Given the description of an element on the screen output the (x, y) to click on. 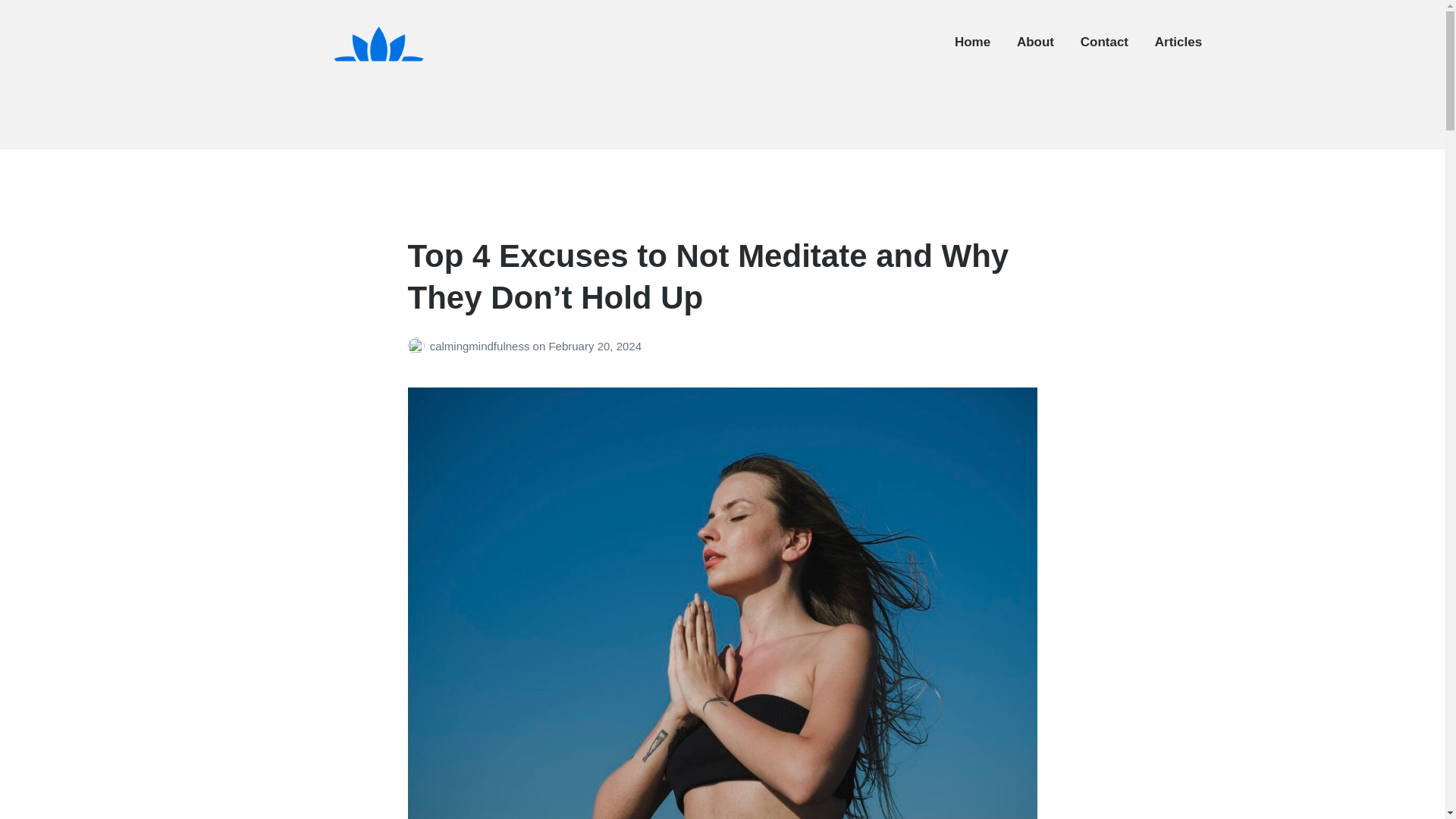
Home (972, 42)
Calming Mindfulness (330, 137)
About (1035, 42)
calmingmindfulness (480, 345)
Articles (1178, 42)
Contact (1104, 42)
Posts by calmingmindfulness (418, 345)
